Given the description of an element on the screen output the (x, y) to click on. 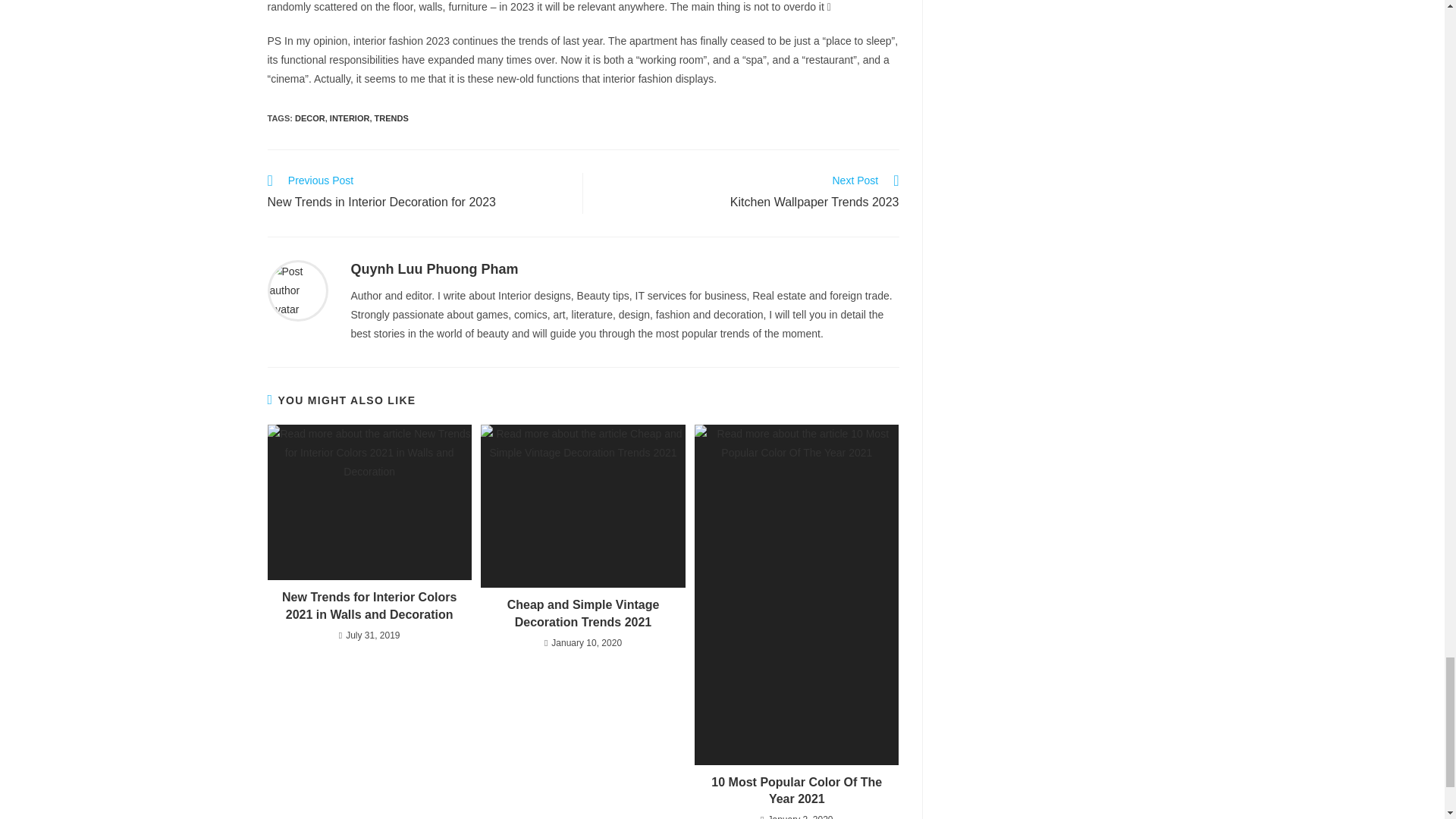
Visit author page (434, 268)
Visit author page (296, 289)
